Given the description of an element on the screen output the (x, y) to click on. 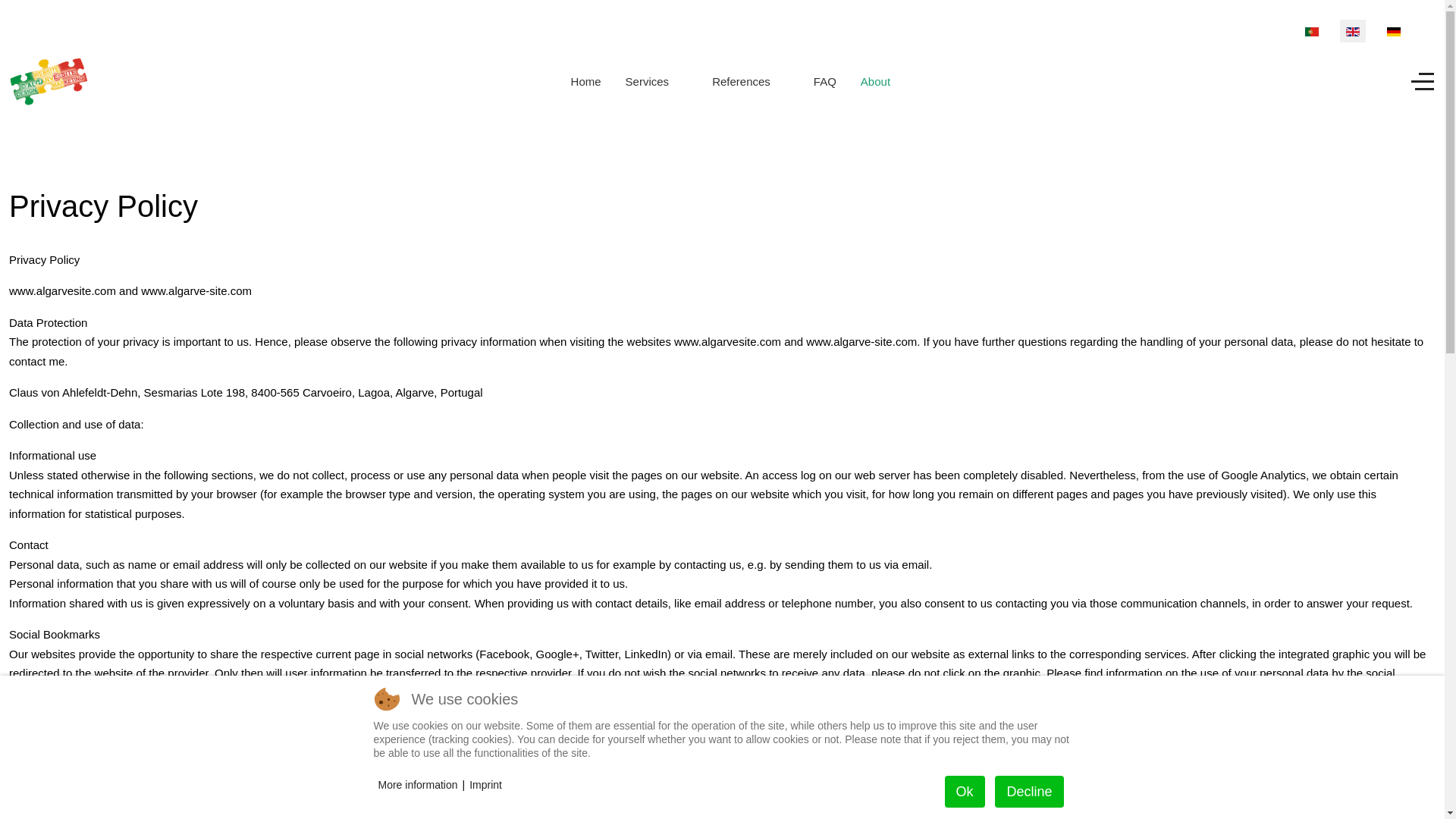
FAQ (825, 81)
Services (656, 81)
Home (585, 81)
References (751, 81)
